Given the description of an element on the screen output the (x, y) to click on. 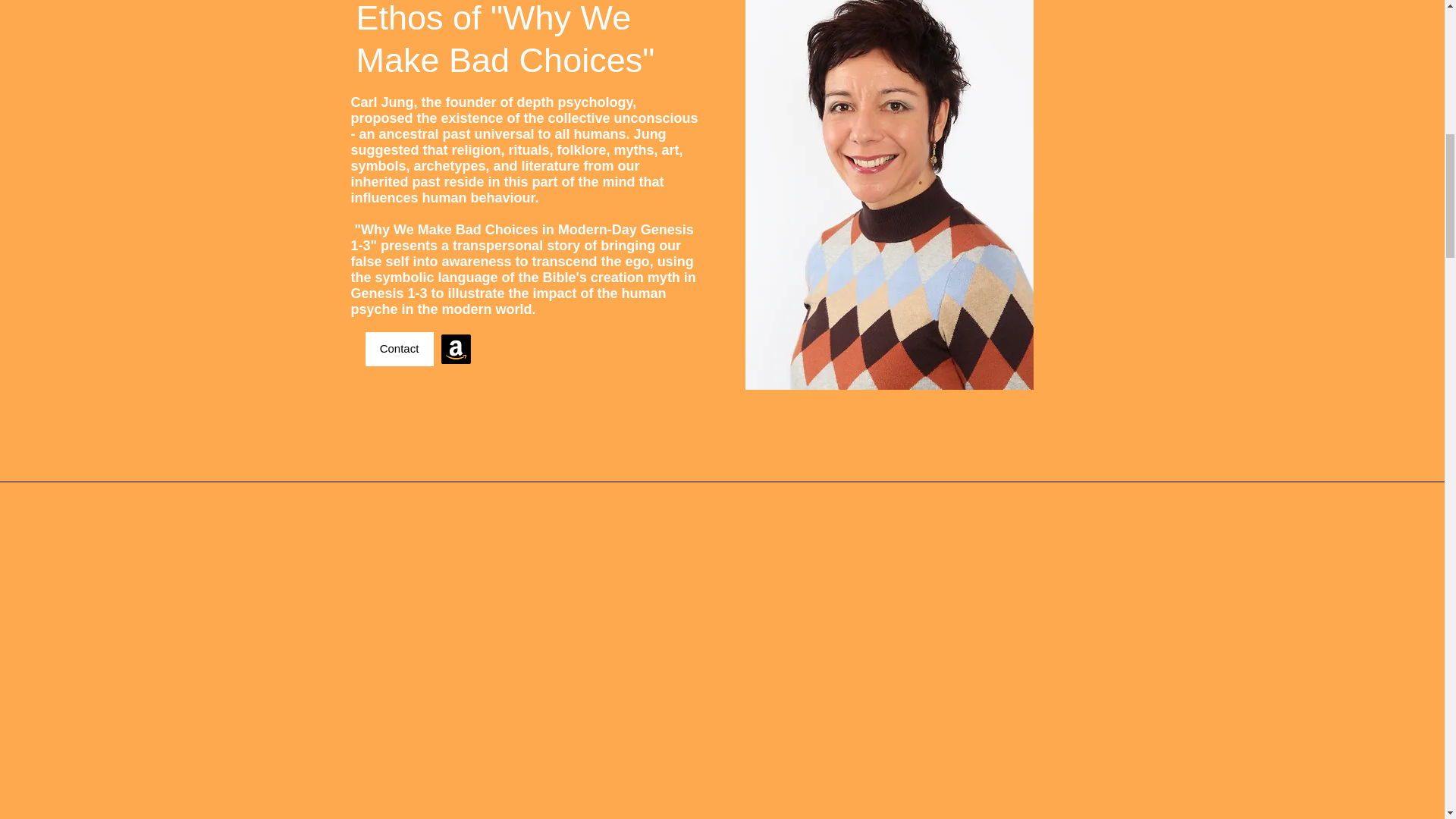
Contact (399, 349)
